Given the description of an element on the screen output the (x, y) to click on. 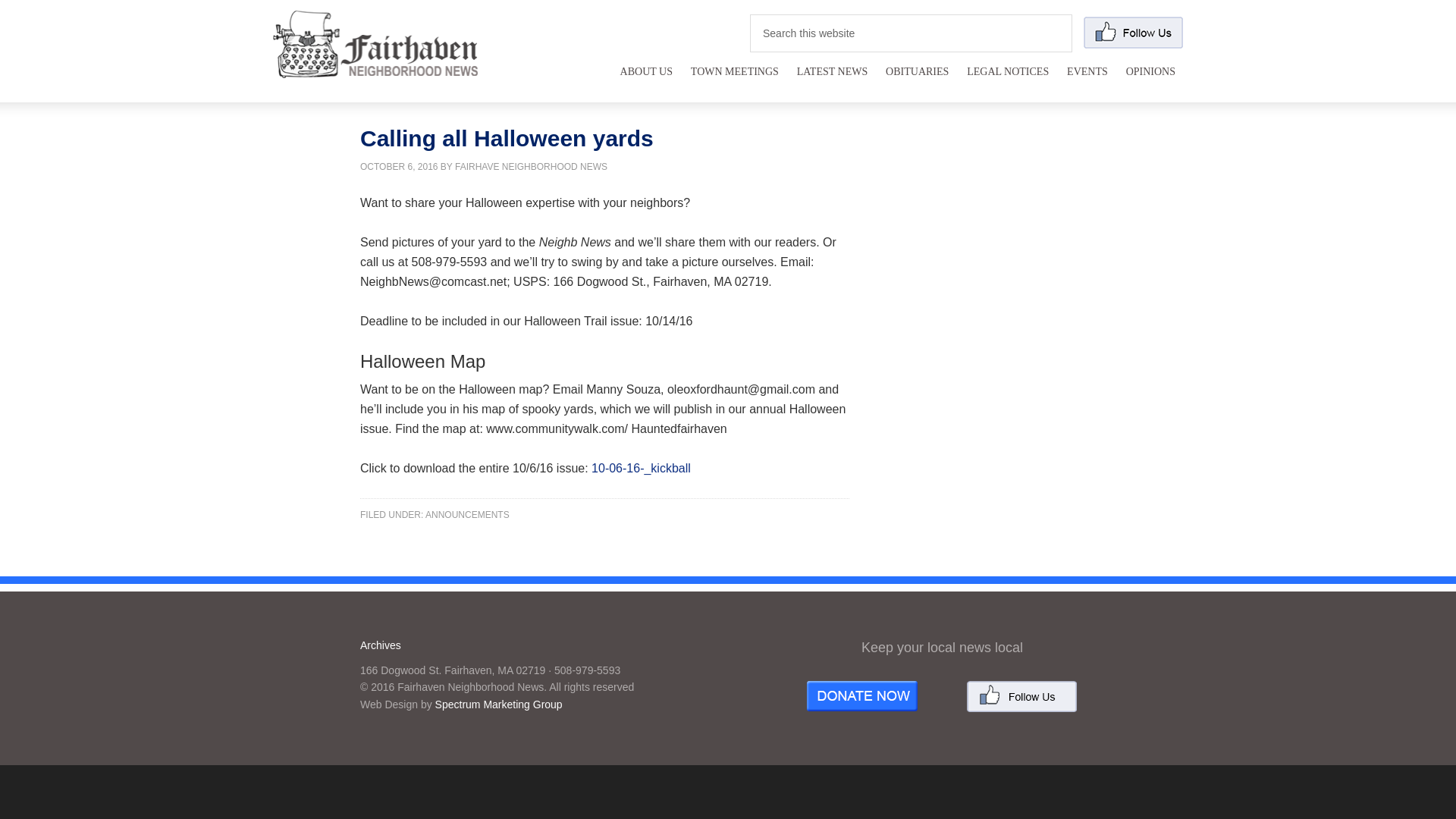
Fairhaven Neighborhood  News (375, 43)
ANNOUNCEMENTS (467, 514)
LATEST NEWS (832, 80)
Spectrum Marketing Group (498, 704)
FAIRHAVE NEIGHBORHOOD NEWS (530, 166)
EVENTS (1087, 80)
LEGAL NOTICES (1008, 80)
OBITUARIES (916, 80)
Archives (380, 645)
Fairhaven Neighborhood  News (375, 66)
TOWN MEETINGS (734, 80)
ABOUT US (645, 80)
